Given the description of an element on the screen output the (x, y) to click on. 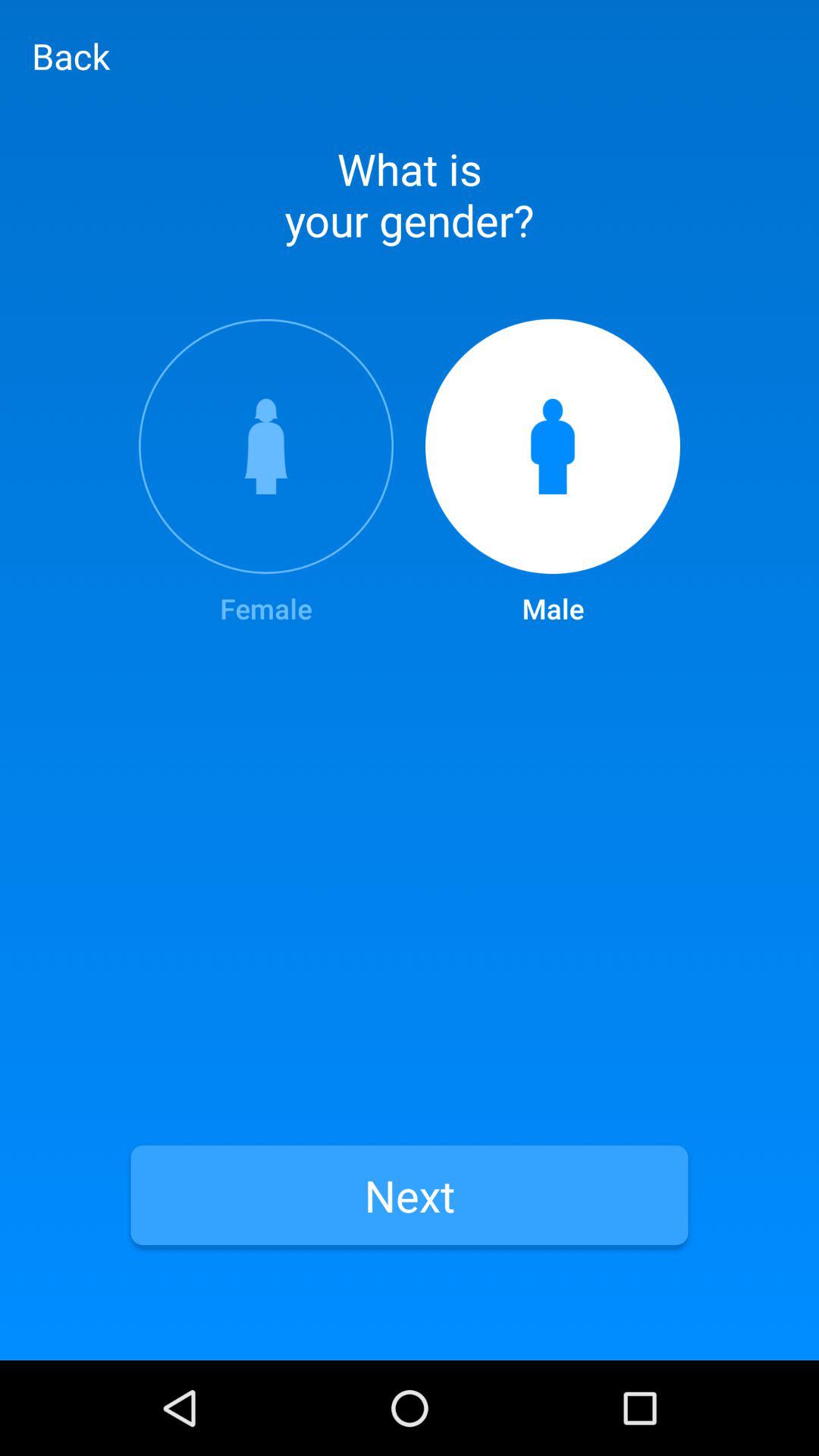
press back icon (70, 55)
